Given the description of an element on the screen output the (x, y) to click on. 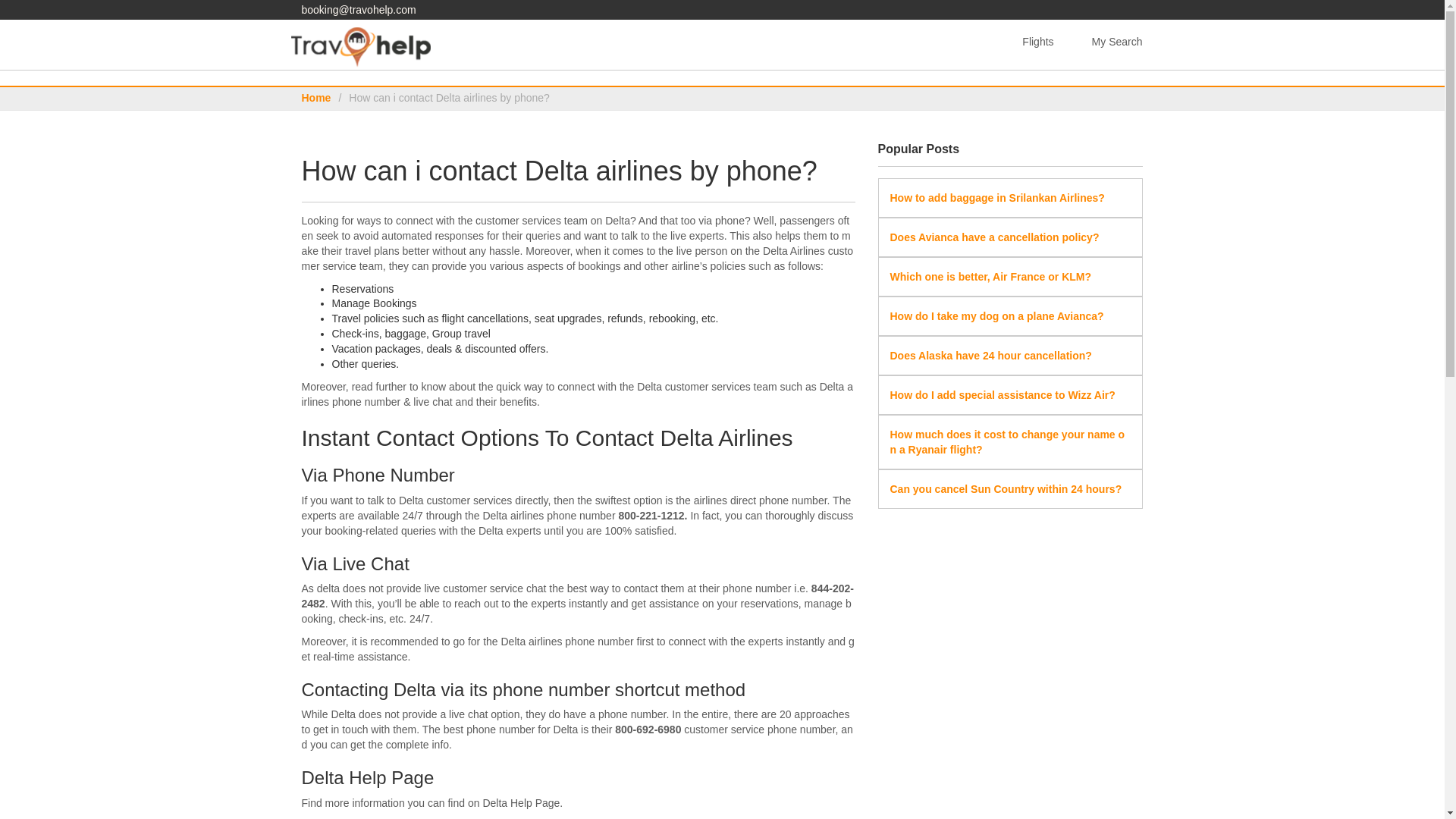
Does Alaska have 24 hour cancellation? (990, 355)
Home (316, 97)
How do I take my dog on a plane Avianca? (996, 316)
Which one is better, Air France or KLM? (990, 276)
Does Avianca have a cancellation policy? (994, 236)
Can you cancel Sun Country within 24 hours? (1005, 489)
How to add baggage in Srilankan Airlines? (997, 197)
My Search (1117, 42)
Delta Help Page (520, 802)
How do I add special assistance to Wizz Air? (1002, 395)
Flights (1037, 42)
